Given the description of an element on the screen output the (x, y) to click on. 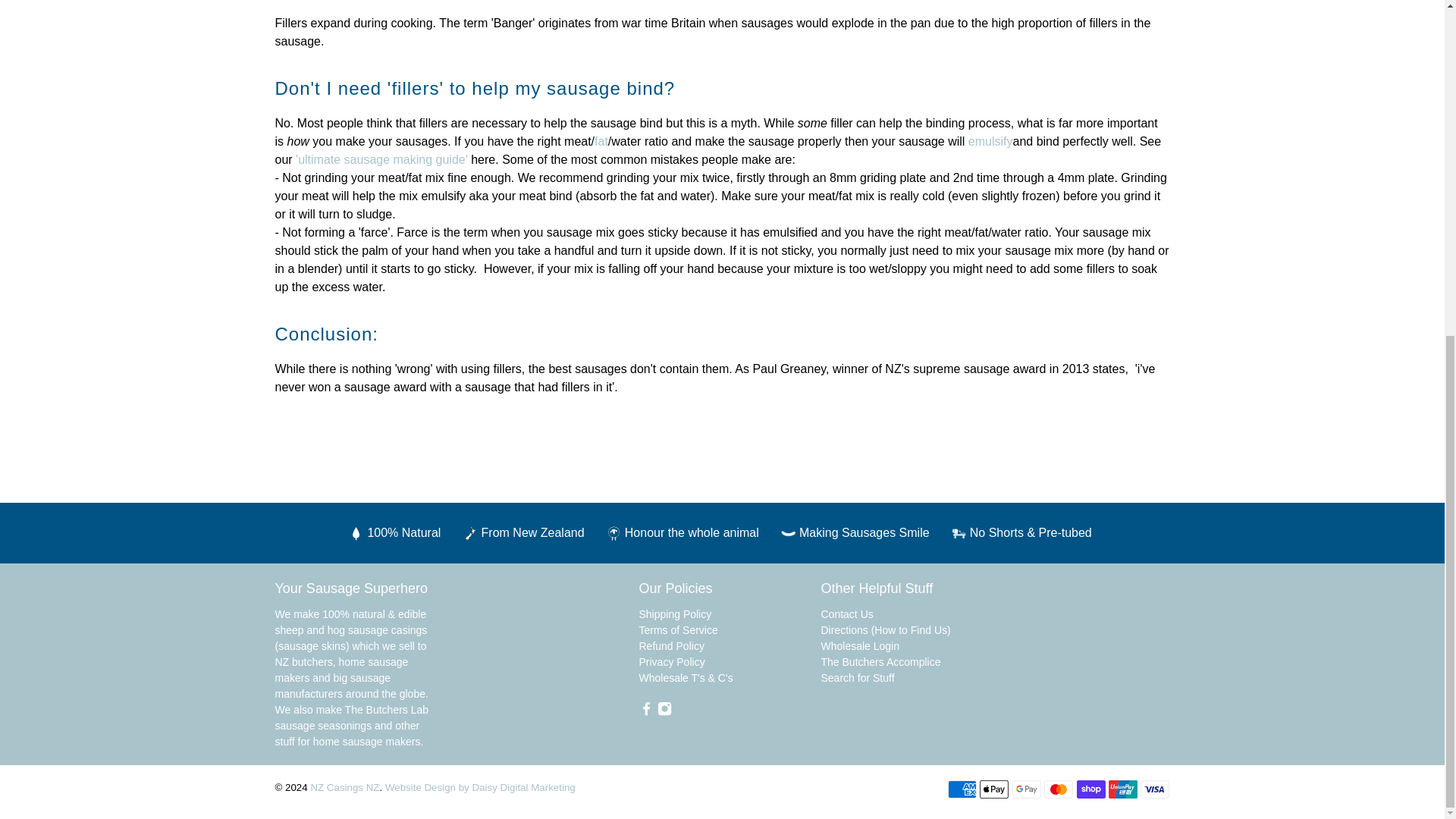
Google Pay (1026, 789)
NZ Casings NZ (1052, 628)
NZ Casings NZ on Facebook (645, 711)
Shop Pay (1091, 789)
sausage making (381, 159)
Apple Pay (994, 789)
Mastercard (1058, 789)
Visa (1154, 789)
Emulsification (990, 141)
Fat (601, 141)
